Given the description of an element on the screen output the (x, y) to click on. 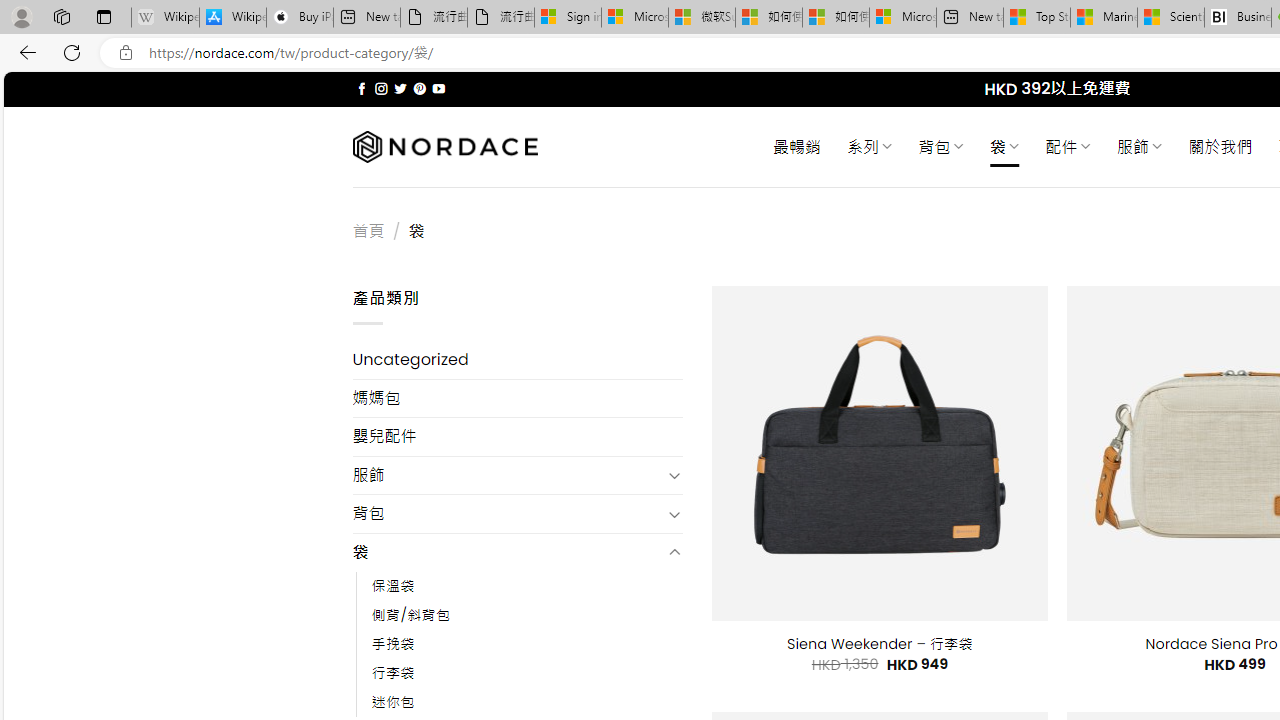
Uncategorized (517, 359)
Follow on Pinterest (419, 88)
Marine life - MSN (1103, 17)
